Given the description of an element on the screen output the (x, y) to click on. 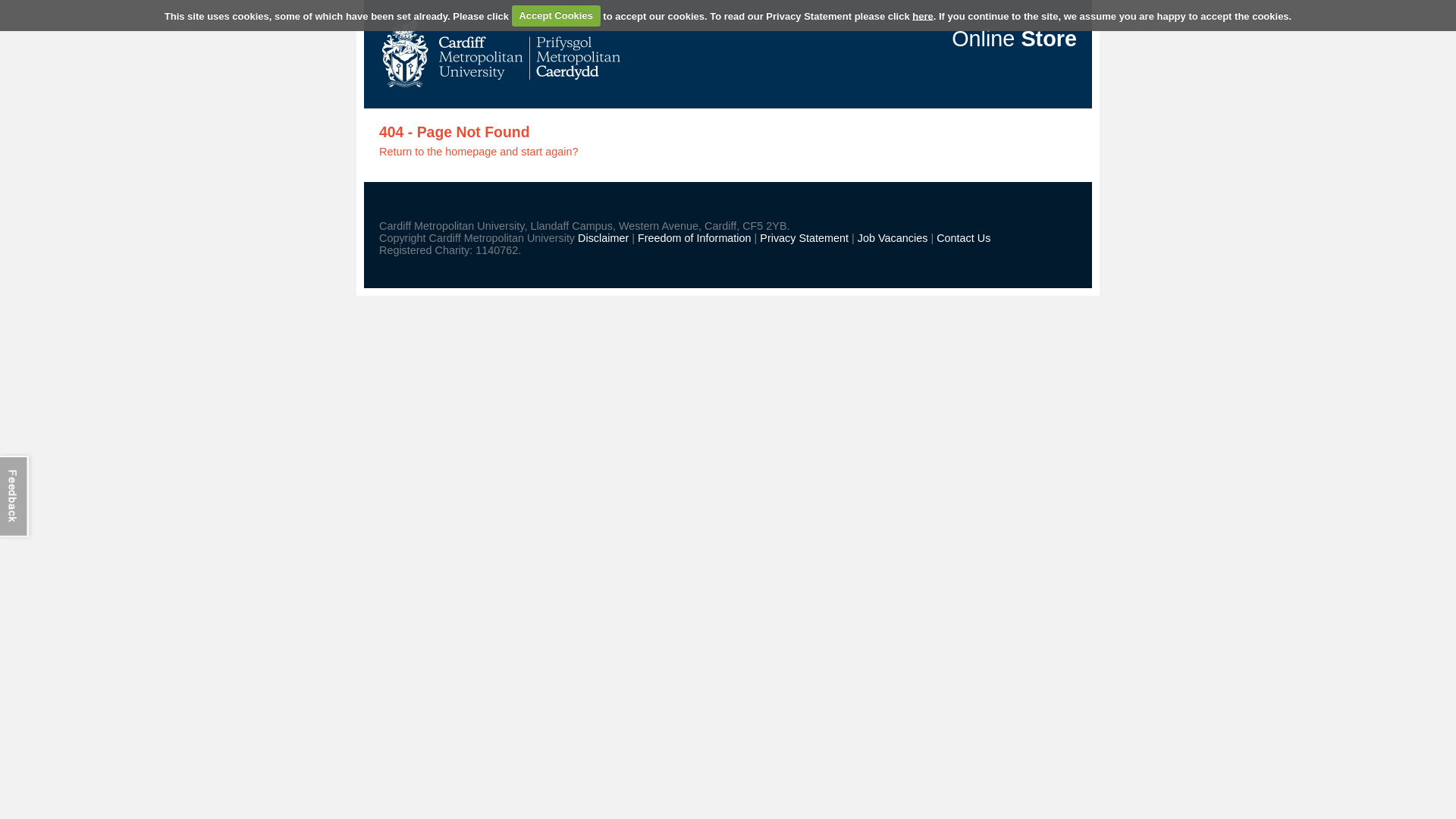
here (922, 15)
Accept Cookies (555, 14)
Logo (499, 54)
Our Privacy Statement about cookies (922, 15)
